Given the description of an element on the screen output the (x, y) to click on. 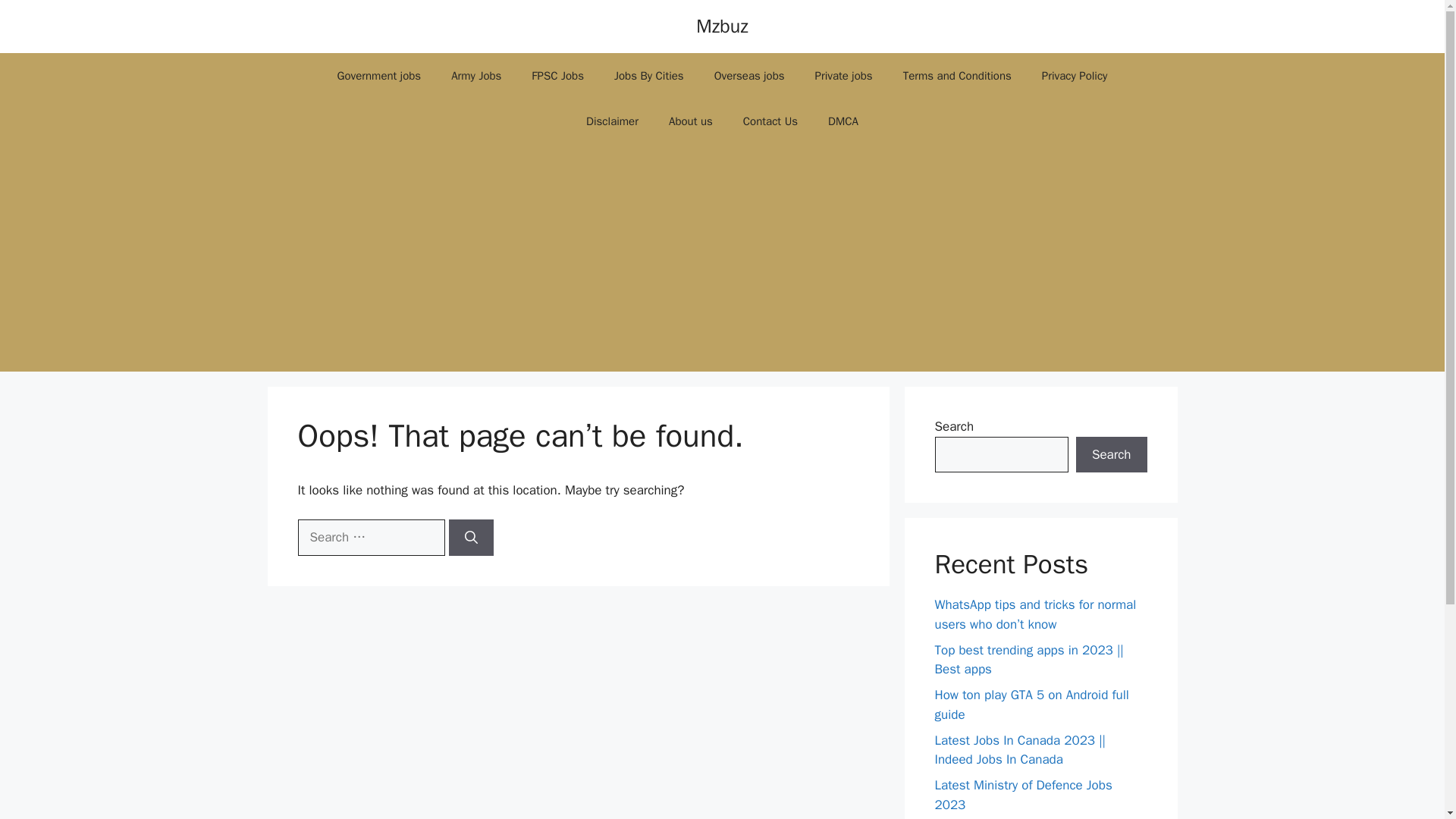
Private jobs (843, 75)
Terms and Conditions (957, 75)
Search (1111, 454)
Contact Us (770, 121)
Government jobs (378, 75)
How ton play GTA 5 on Android full guide (1031, 704)
Search for: (370, 537)
About us (690, 121)
Army Jobs (475, 75)
Latest Ministry of Defence Jobs 2023 (1023, 795)
